Given the description of an element on the screen output the (x, y) to click on. 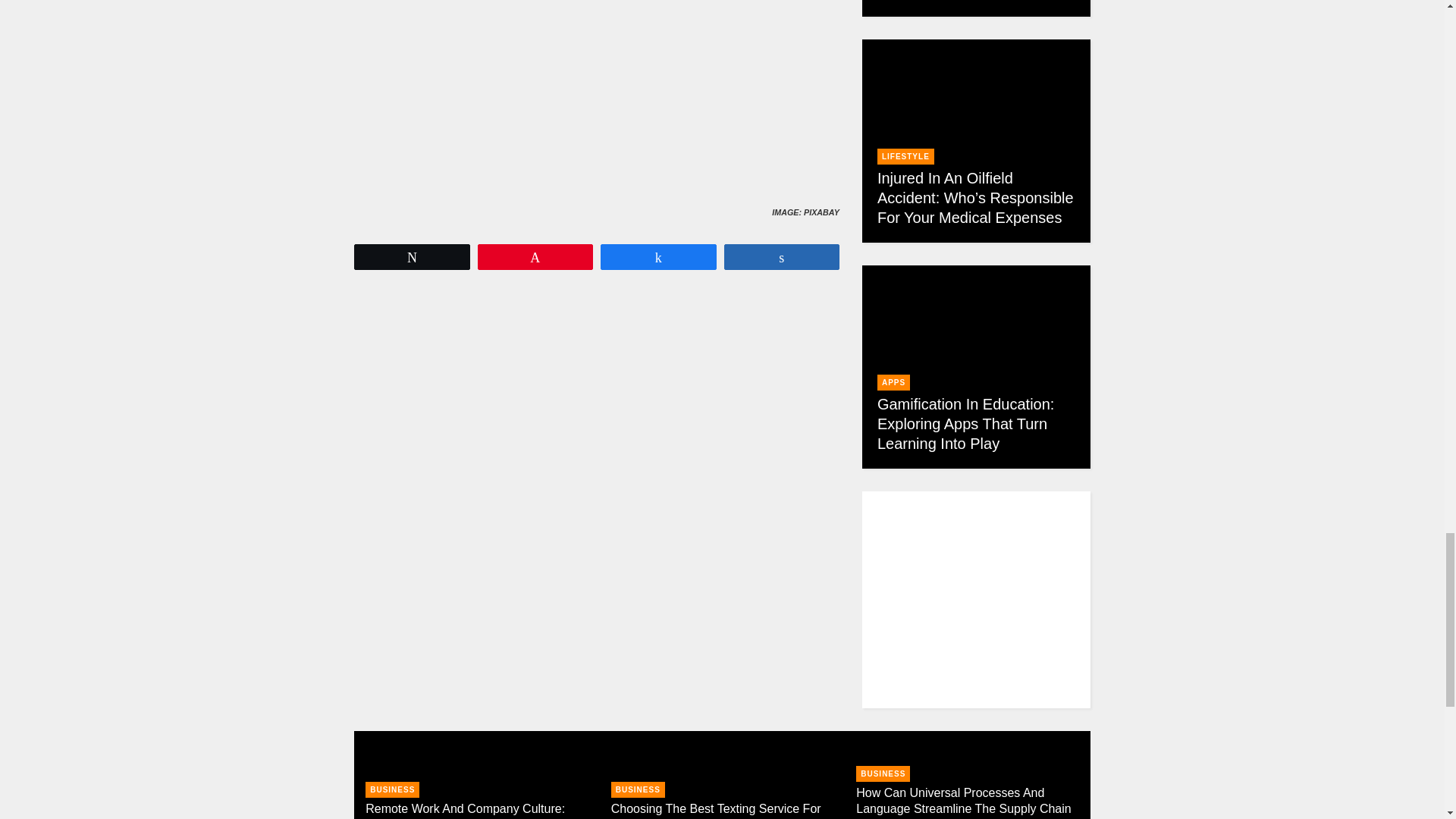
Advertisement (631, 398)
